Given the description of an element on the screen output the (x, y) to click on. 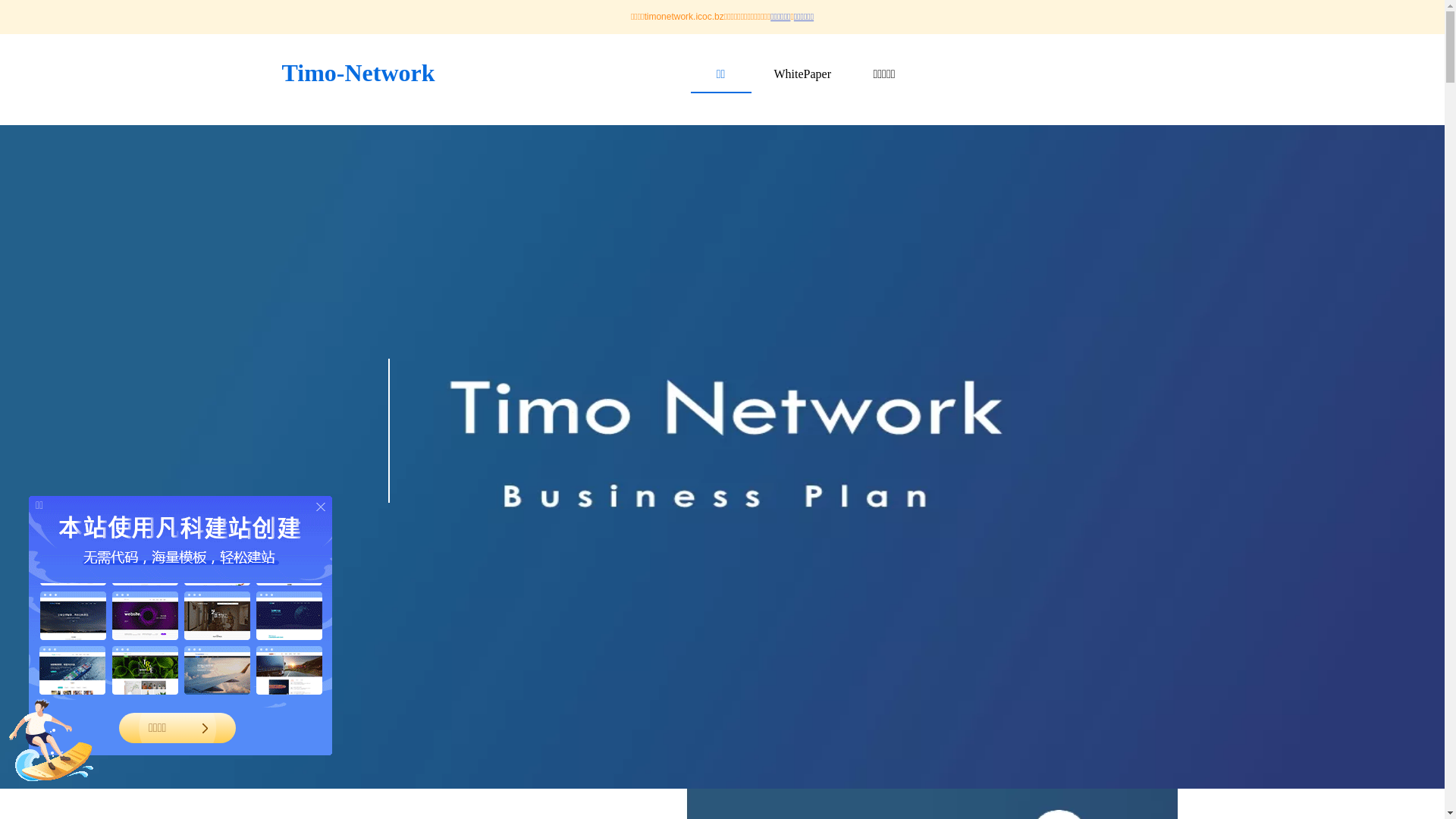
WhitePaper Element type: text (801, 74)
WhitePaper Element type: text (802, 74)
